Given the description of an element on the screen output the (x, y) to click on. 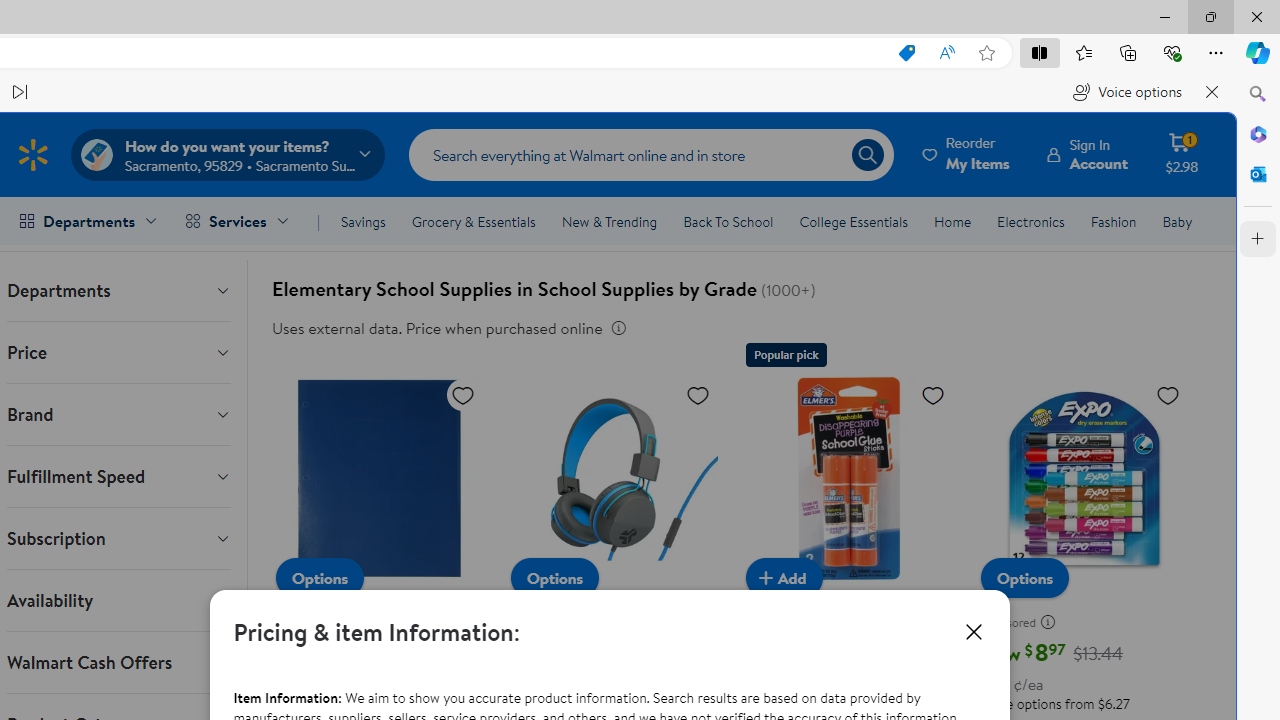
Close Search pane (1258, 94)
Close read aloud (1211, 92)
Close dialog (973, 631)
Read next paragraph (19, 92)
